Given the description of an element on the screen output the (x, y) to click on. 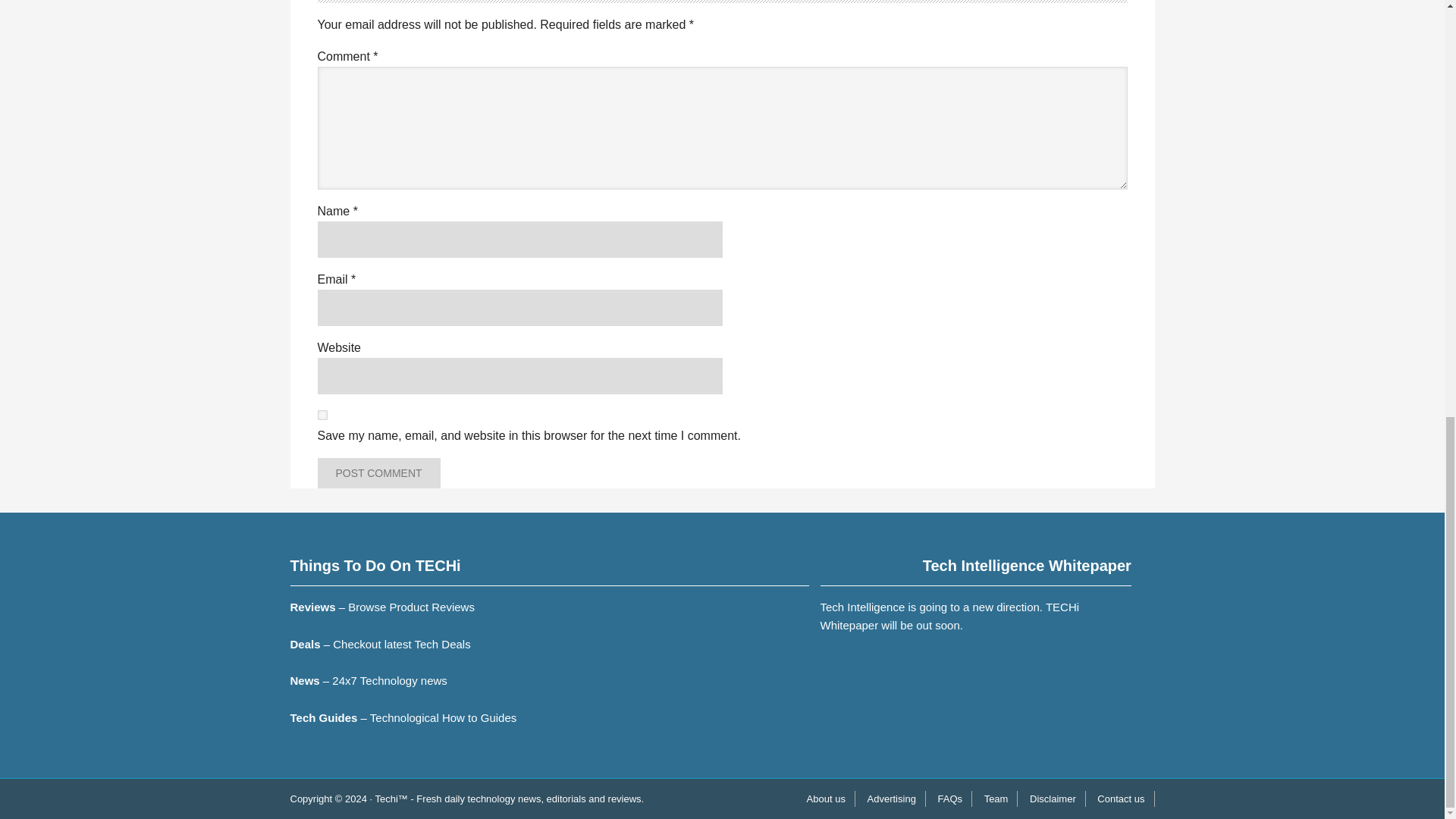
yes (321, 415)
Post Comment (378, 472)
Advertising (892, 798)
About us (826, 798)
FAQs (950, 798)
Post Comment (378, 472)
Disclaimer (1053, 798)
Team (996, 798)
Contact us (1120, 798)
